Given the description of an element on the screen output the (x, y) to click on. 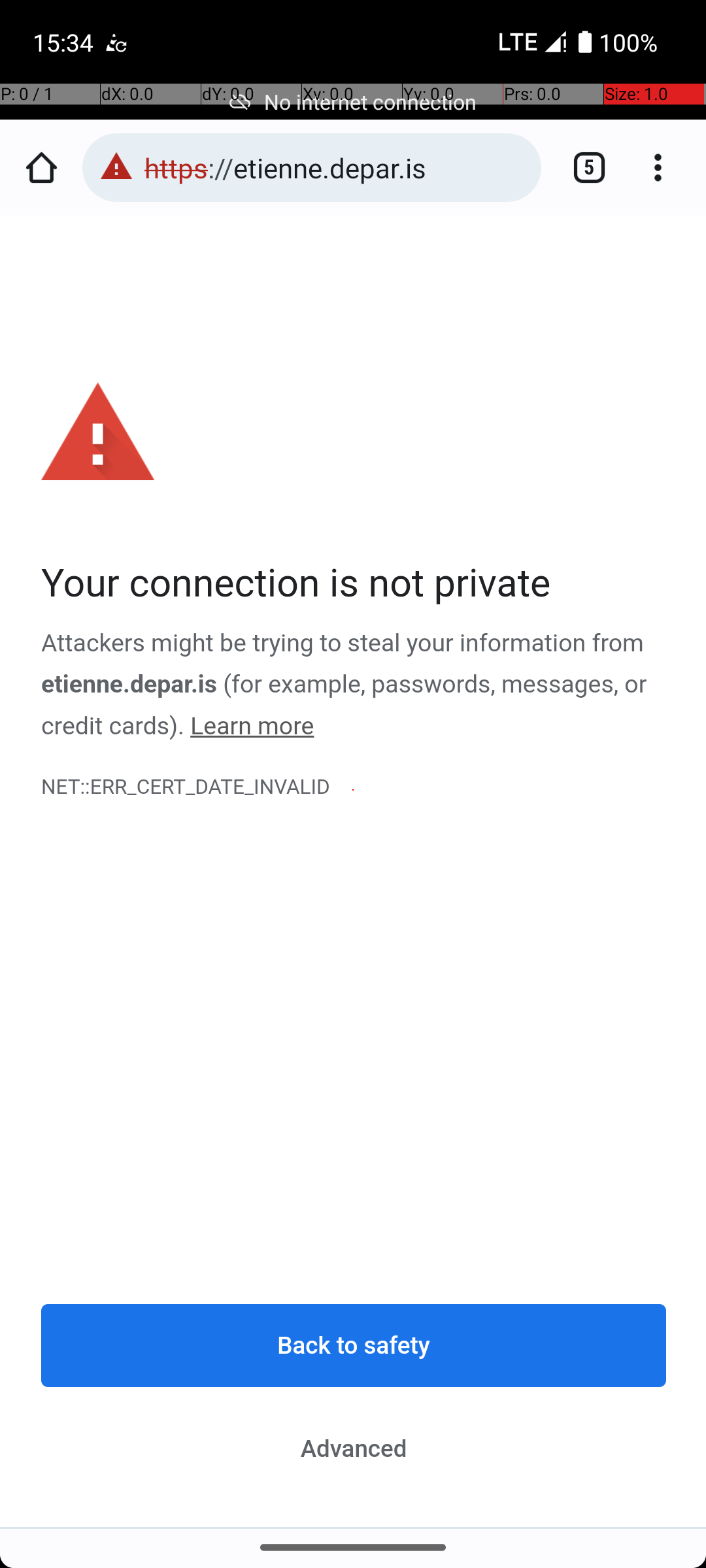
https://etienne.depar.is Element type: android.widget.EditText (335, 167)
etienne.depar.is Element type: android.widget.TextView (129, 684)
